Given the description of an element on the screen output the (x, y) to click on. 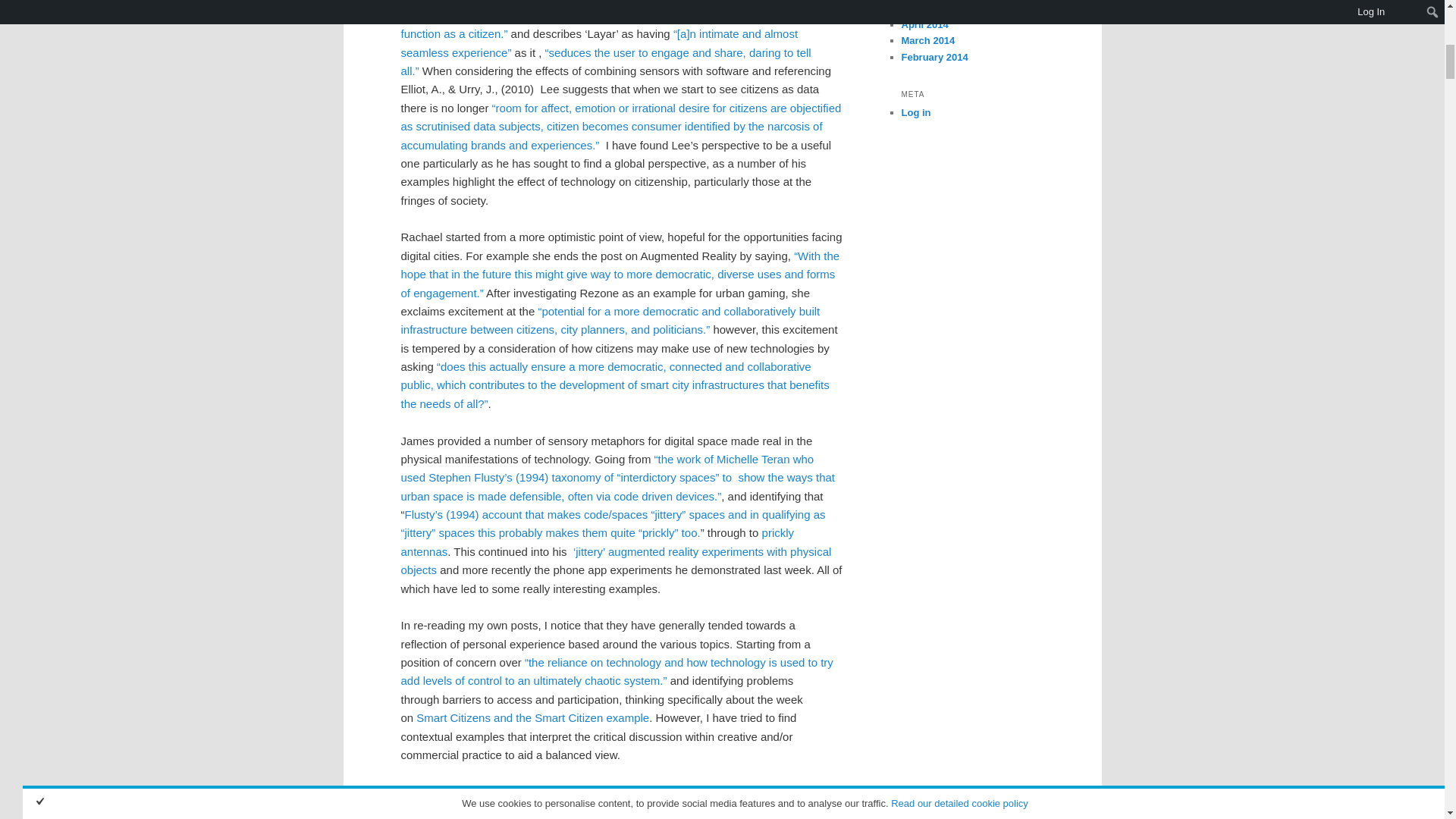
software city (620, 24)
Augmented Reality (620, 274)
Digital Urban Gaming (609, 319)
smart city (614, 11)
prickly antennas (596, 541)
augmented reality (605, 60)
Smart Citizens (614, 385)
Smart Citizens and the Smart Citizen example (532, 717)
augmented reality (598, 42)
Digital Trees (596, 541)
